Given the description of an element on the screen output the (x, y) to click on. 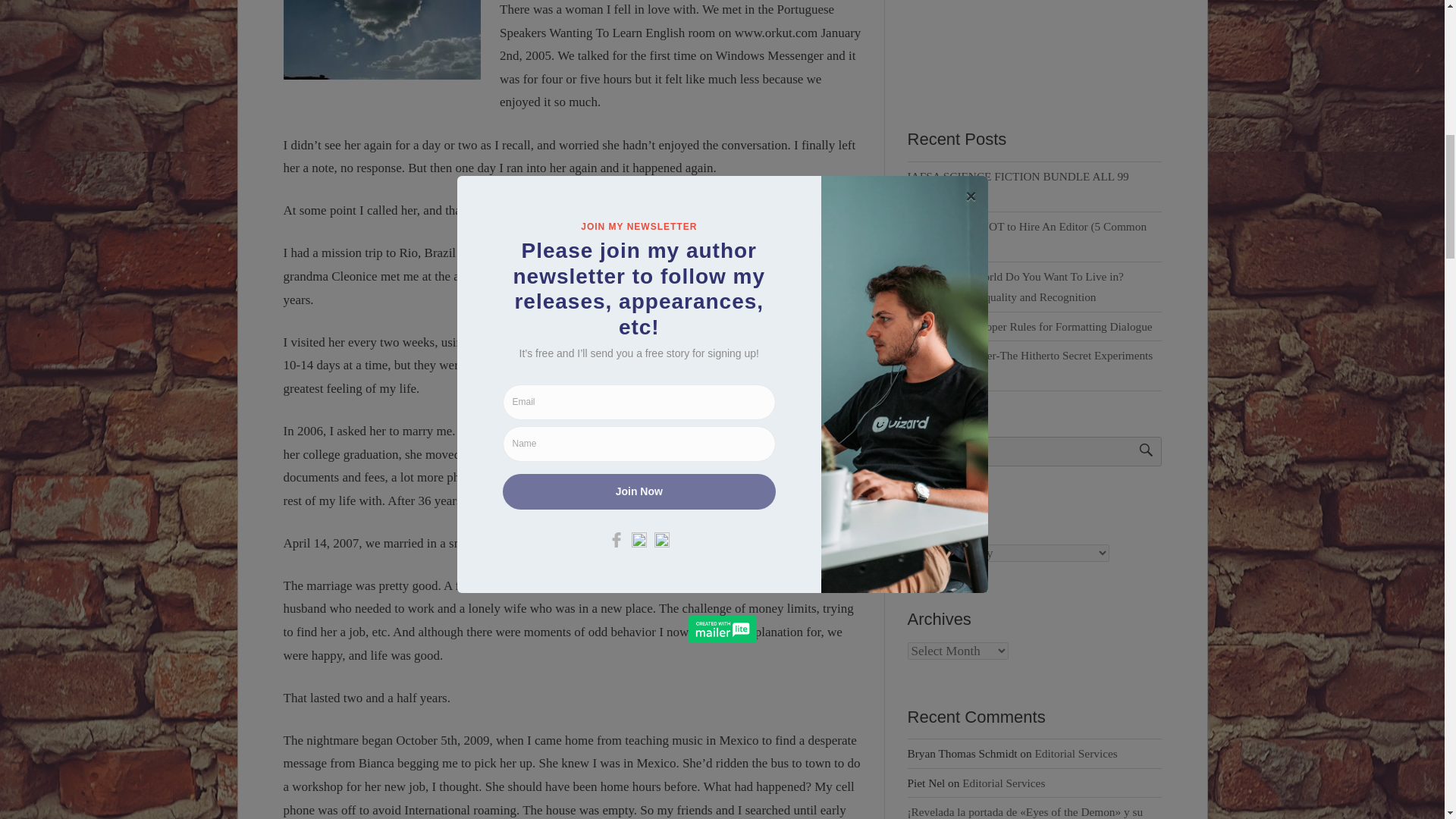
Search (1138, 451)
Search (1138, 451)
heart cloud love (381, 39)
